Given the description of an element on the screen output the (x, y) to click on. 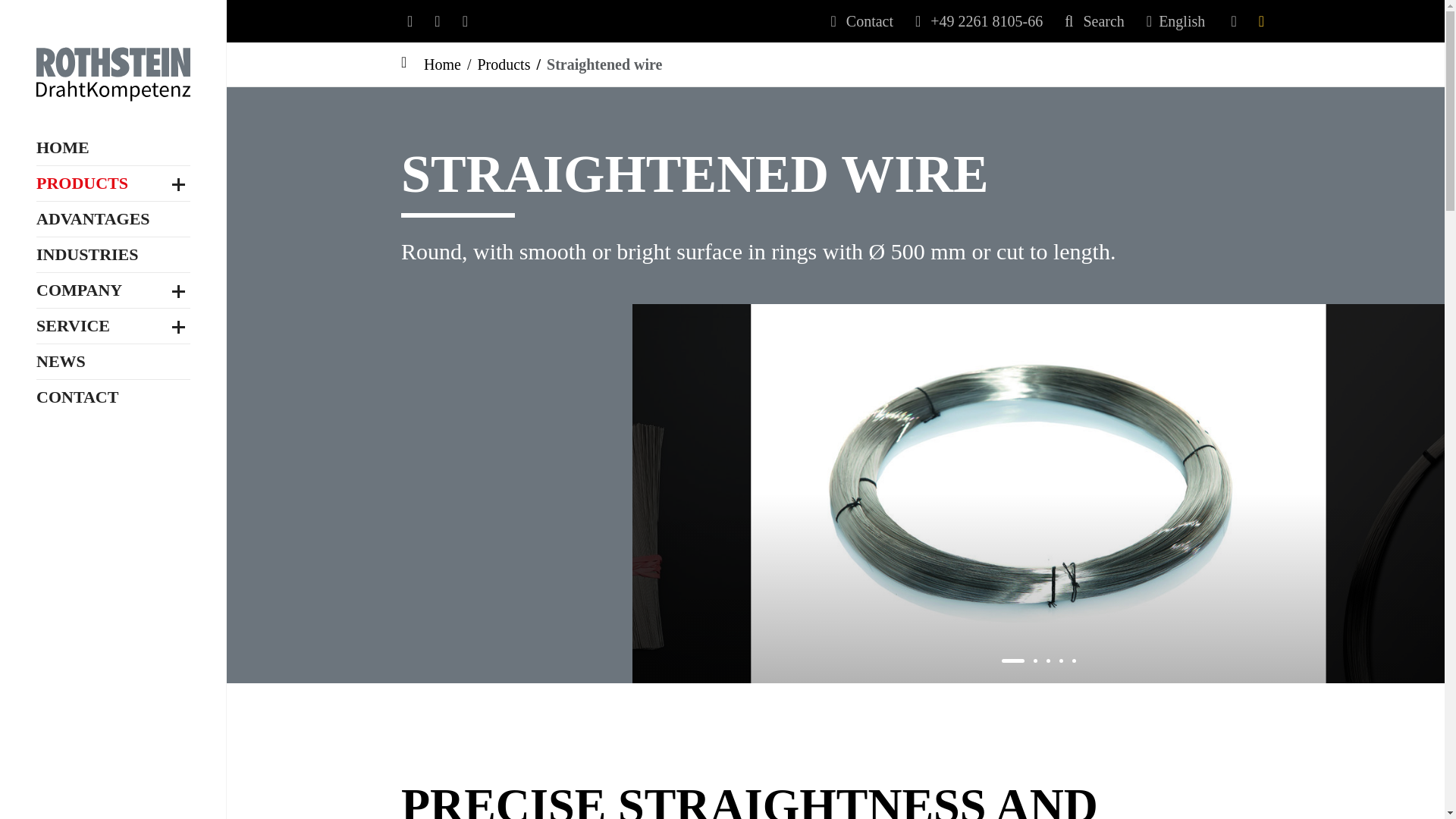
Worldwide (113, 631)
HOME (62, 104)
Material consulting (113, 732)
Plain wire (113, 245)
Quality (113, 582)
Gear crimping (113, 410)
Flachdraht mit Naturkante (113, 302)
Delivery forms (113, 435)
Cutting (113, 385)
Career (113, 656)
